Given the description of an element on the screen output the (x, y) to click on. 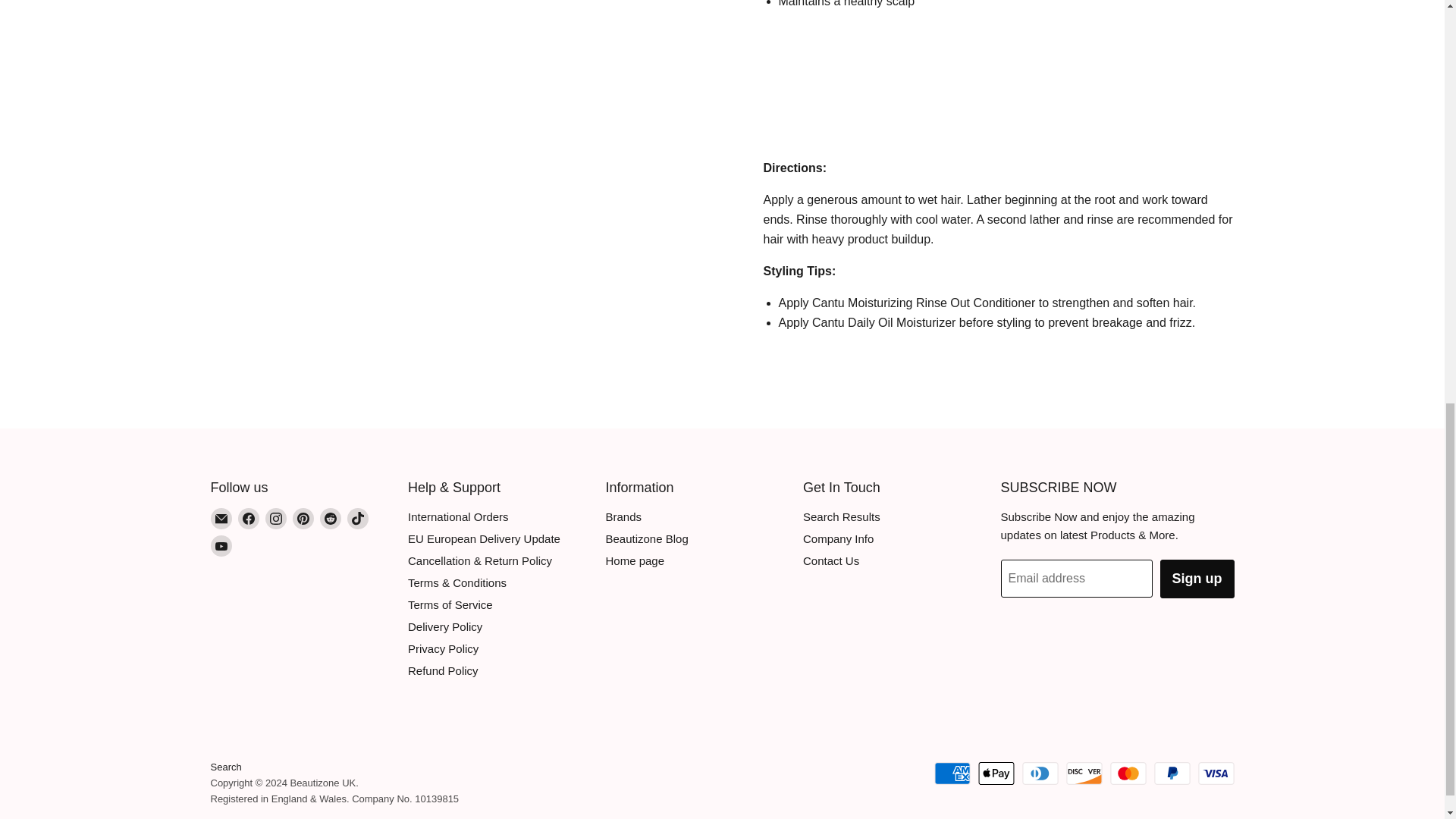
Reddit (330, 518)
Facebook (248, 518)
Pinterest (303, 518)
Instagram (275, 518)
Email (221, 518)
